Given the description of an element on the screen output the (x, y) to click on. 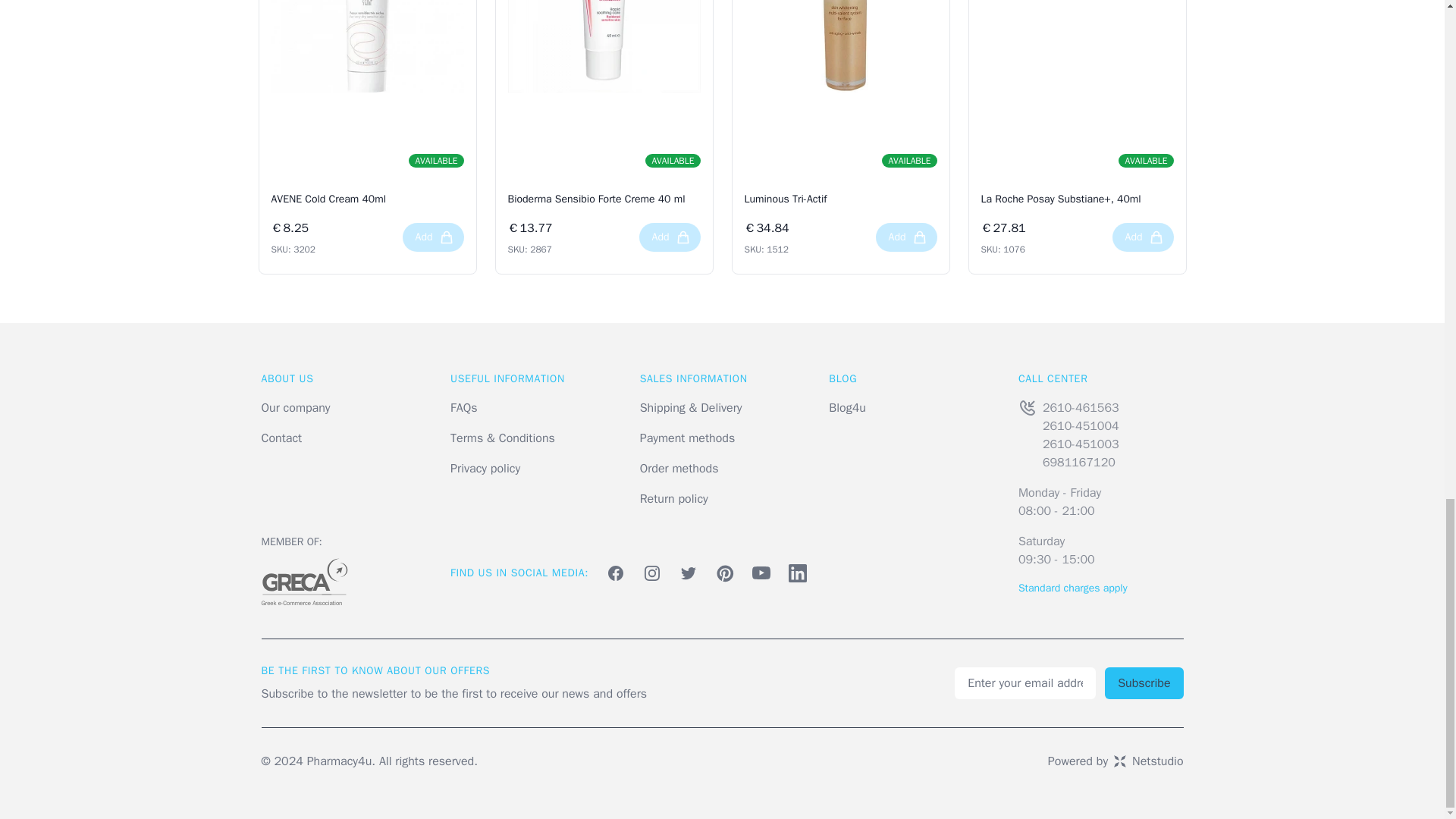
Add (433, 236)
Add (669, 236)
Add (1142, 236)
Our company (295, 407)
AVENE Cold Cream 40ml (367, 199)
Add (906, 236)
Bioderma Sensibio Forte Creme 40 ml (604, 199)
Luminous Tri-Actif (840, 199)
